Given the description of an element on the screen output the (x, y) to click on. 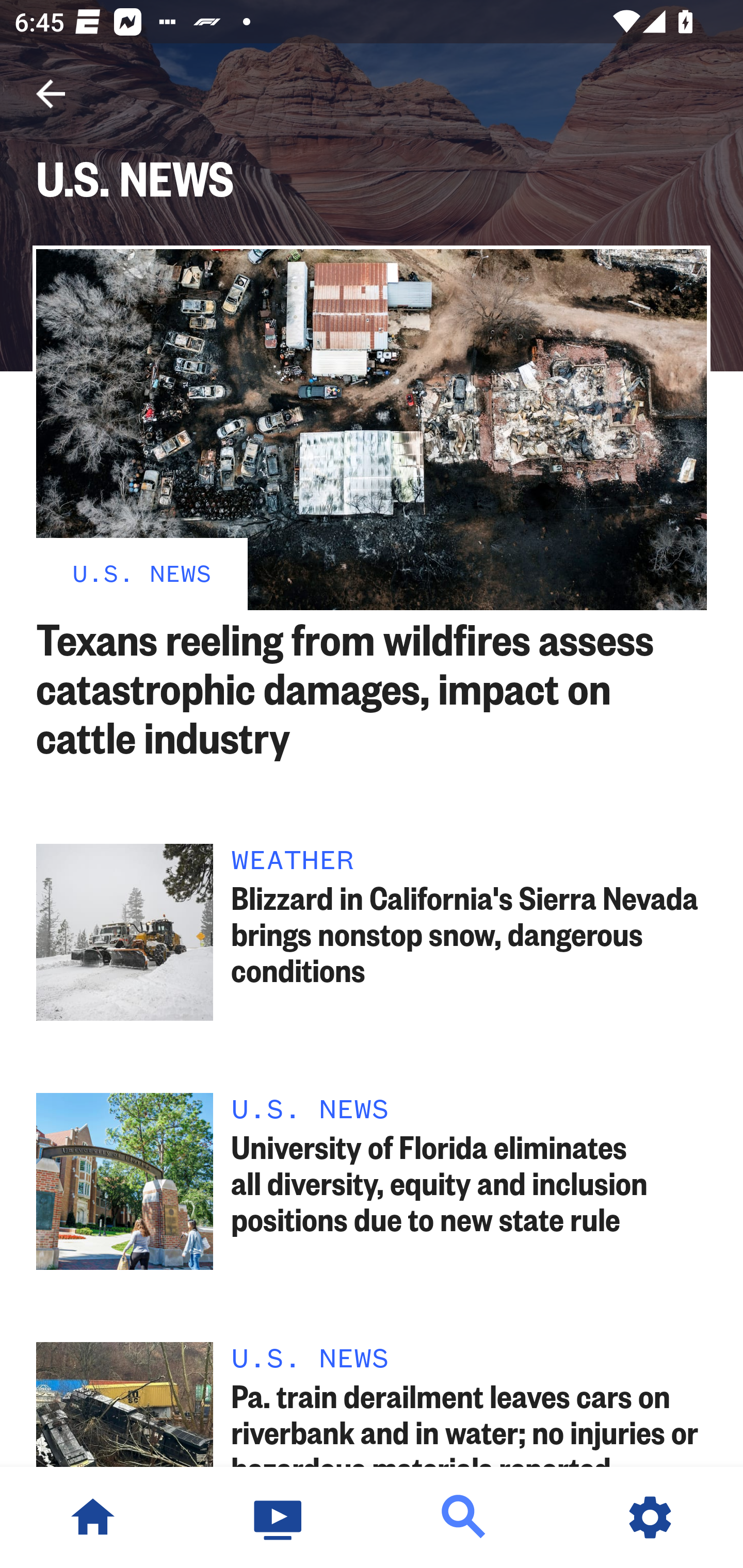
Navigate up (50, 93)
NBC News Home (92, 1517)
Watch (278, 1517)
Settings (650, 1517)
